Given the description of an element on the screen output the (x, y) to click on. 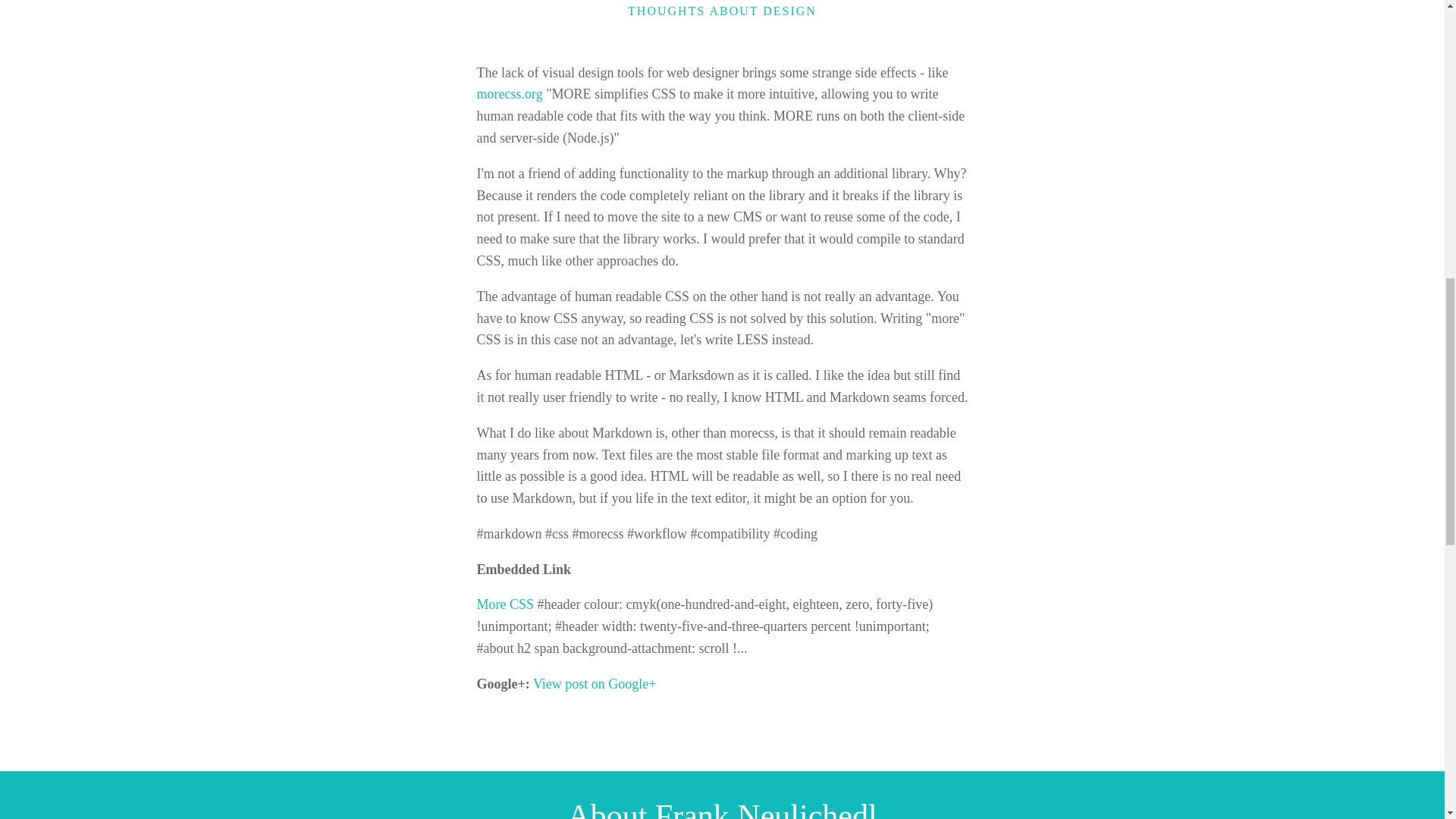
THOUGHTS ABOUT DESIGN (721, 10)
morecss.org (508, 93)
More CSS (505, 604)
